Given the description of an element on the screen output the (x, y) to click on. 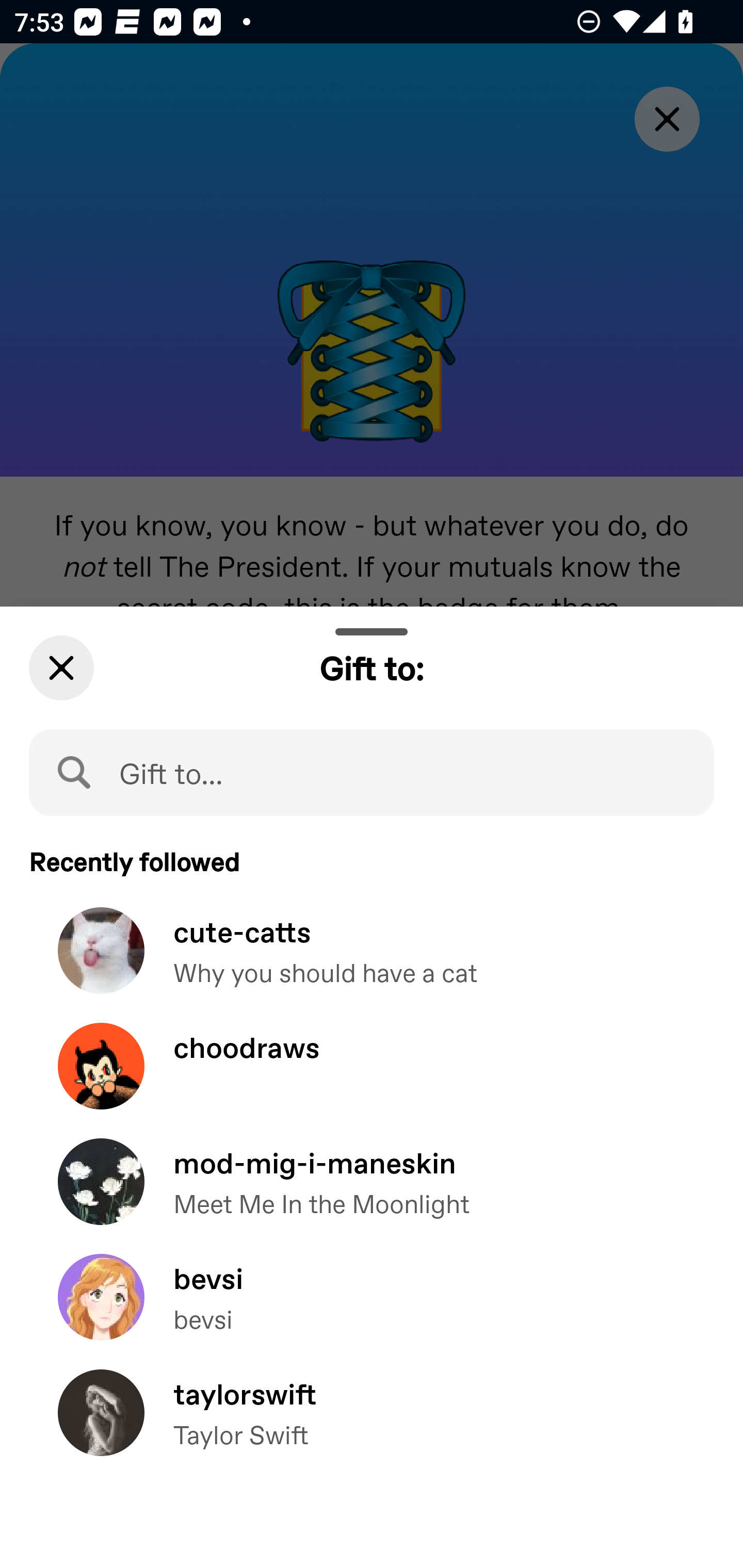
Gift to... (371, 772)
cute-catts Why you should have a cat (371, 964)
choodraws (371, 1080)
mod-mig-i-maneskin Meet Me In the Moonlight (371, 1196)
bevsi (371, 1311)
taylorswift Taylor Swift (371, 1426)
